Given the description of an element on the screen output the (x, y) to click on. 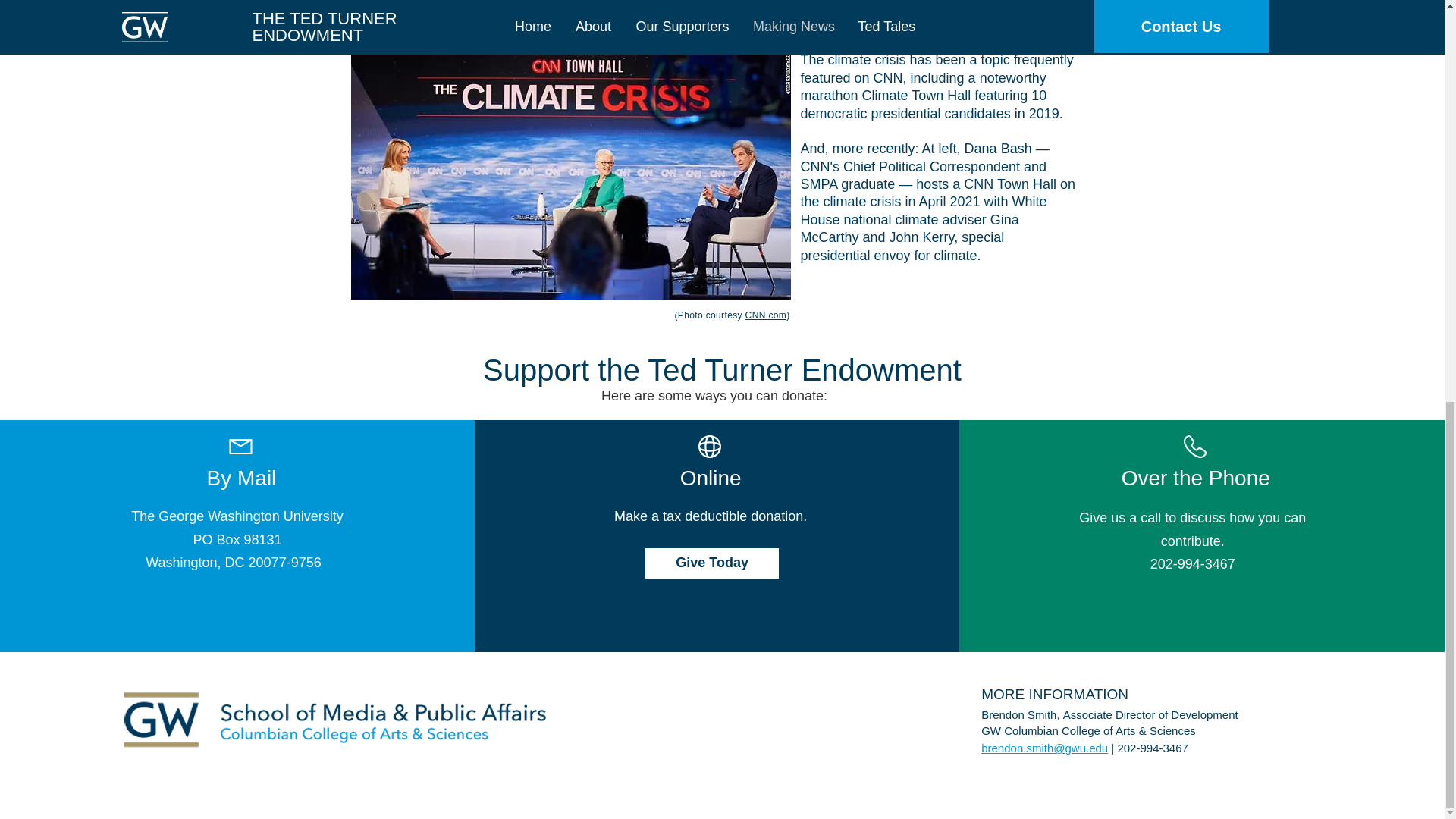
Give Today (711, 562)
CNN.com (766, 315)
